Given the description of an element on the screen output the (x, y) to click on. 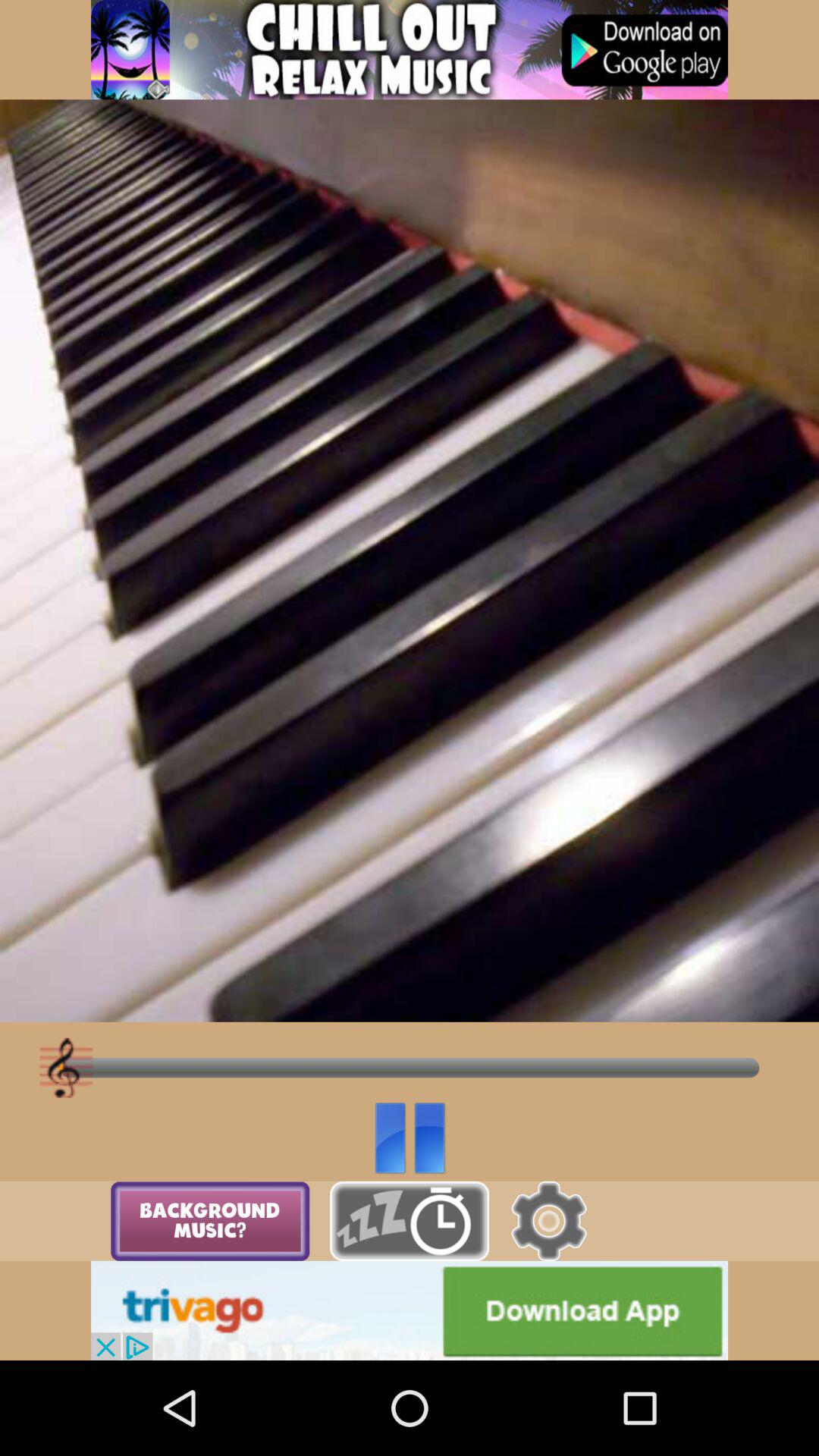
open advertisement (409, 49)
